Given the description of an element on the screen output the (x, y) to click on. 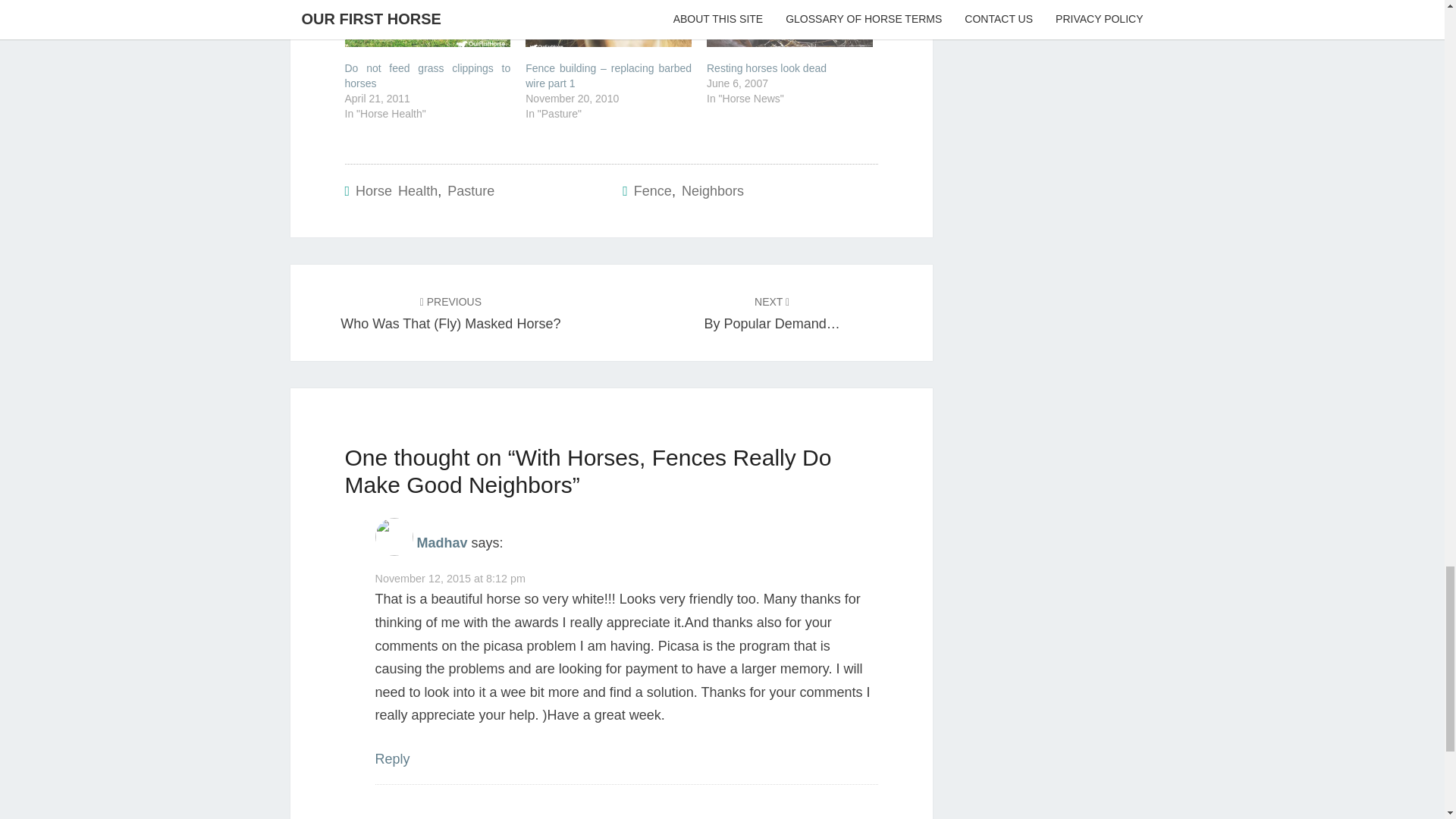
Resting horses look dead (766, 68)
Do not feed grass clippings to horses (427, 75)
Resting horses look dead (766, 68)
Resting horses look dead (789, 23)
Madhav (441, 542)
Pasture (470, 191)
Do not feed grass clippings to horses (427, 23)
Do not feed grass clippings to horses (427, 75)
Fence (652, 191)
Horse Health (396, 191)
November 12, 2015 at 8:12 pm (449, 578)
Reply (391, 758)
Neighbors (712, 191)
